Given the description of an element on the screen output the (x, y) to click on. 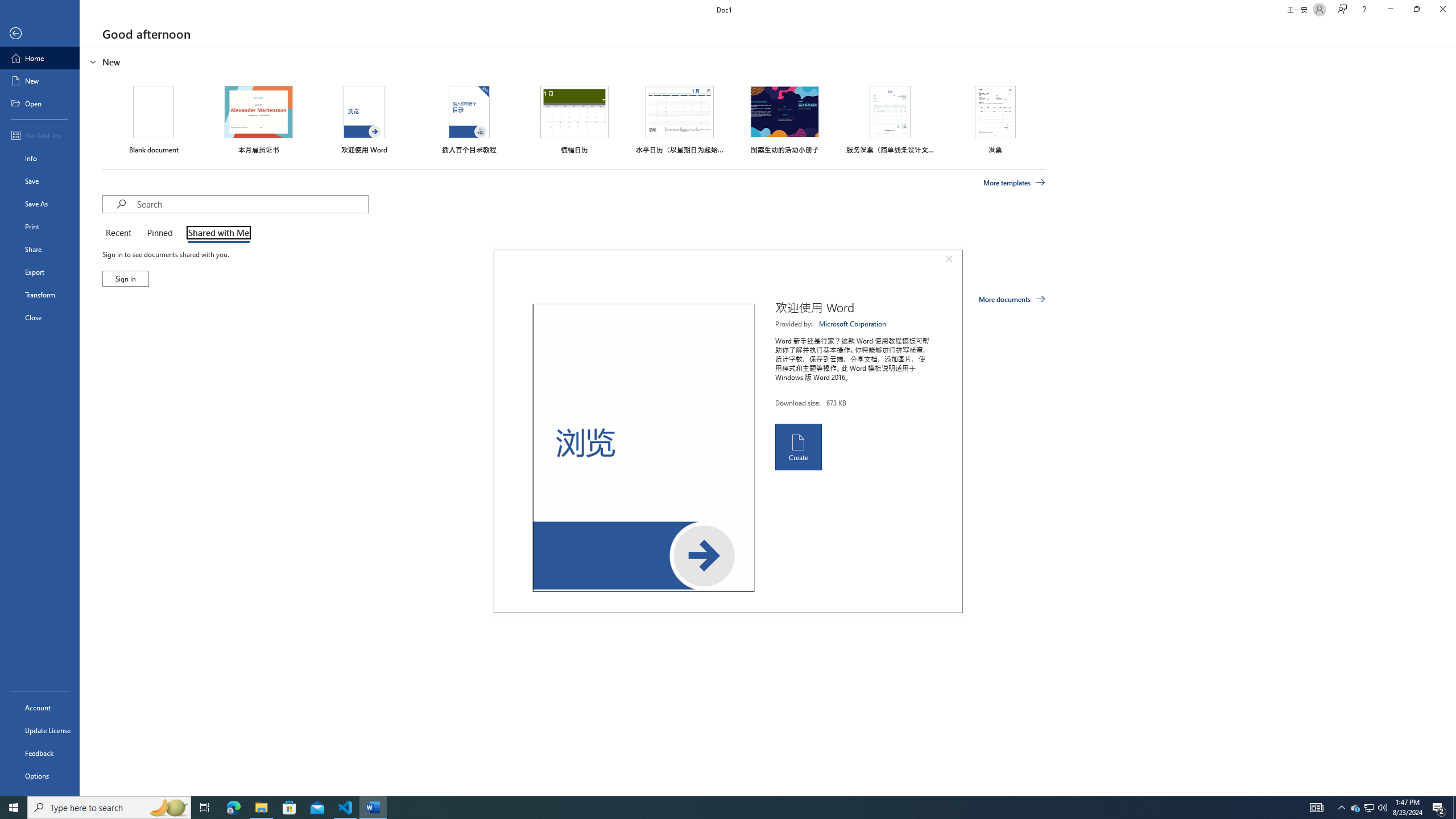
Blank document (153, 119)
